Given the description of an element on the screen output the (x, y) to click on. 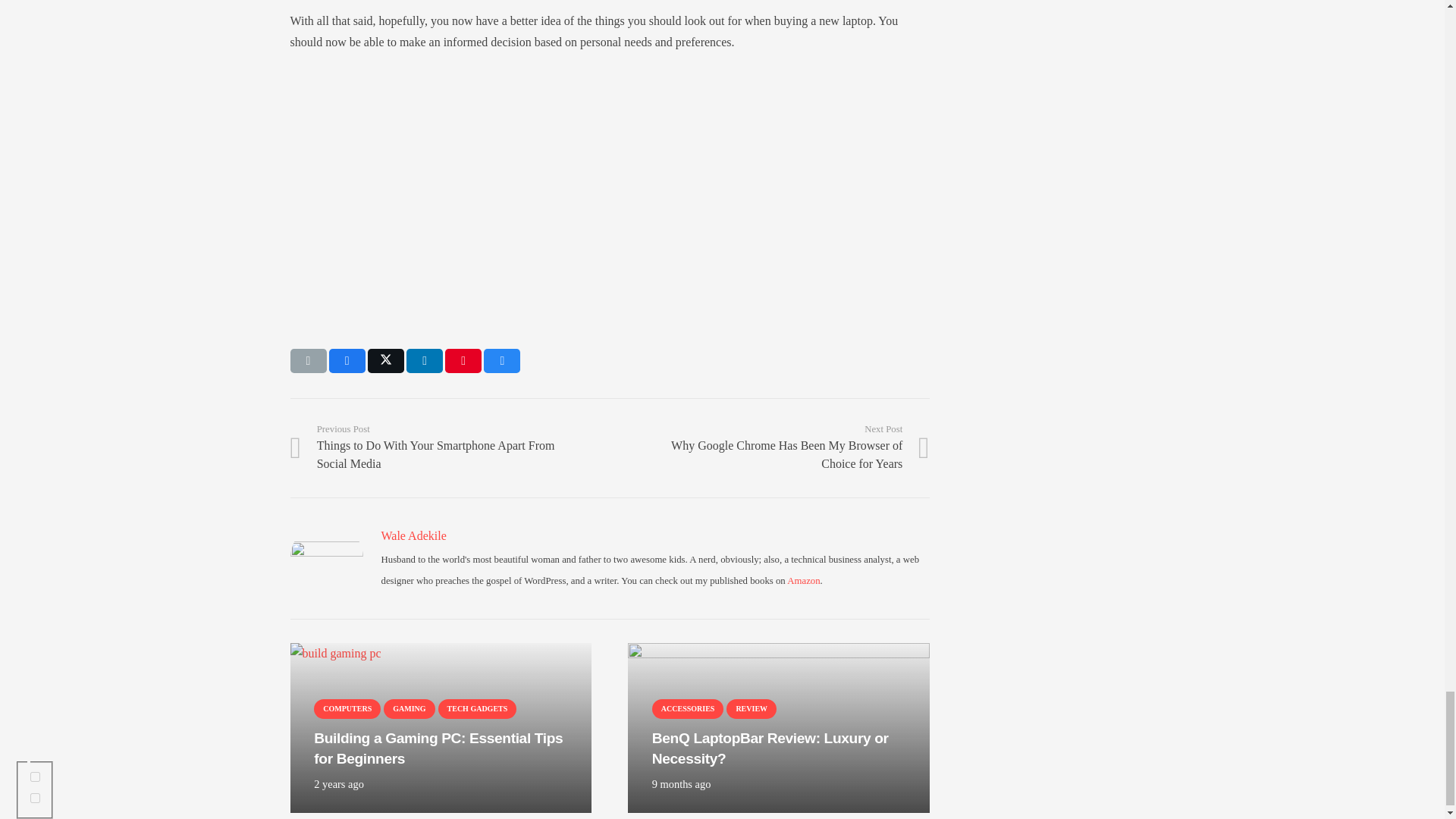
Share this (347, 360)
Email this (307, 360)
